Given the description of an element on the screen output the (x, y) to click on. 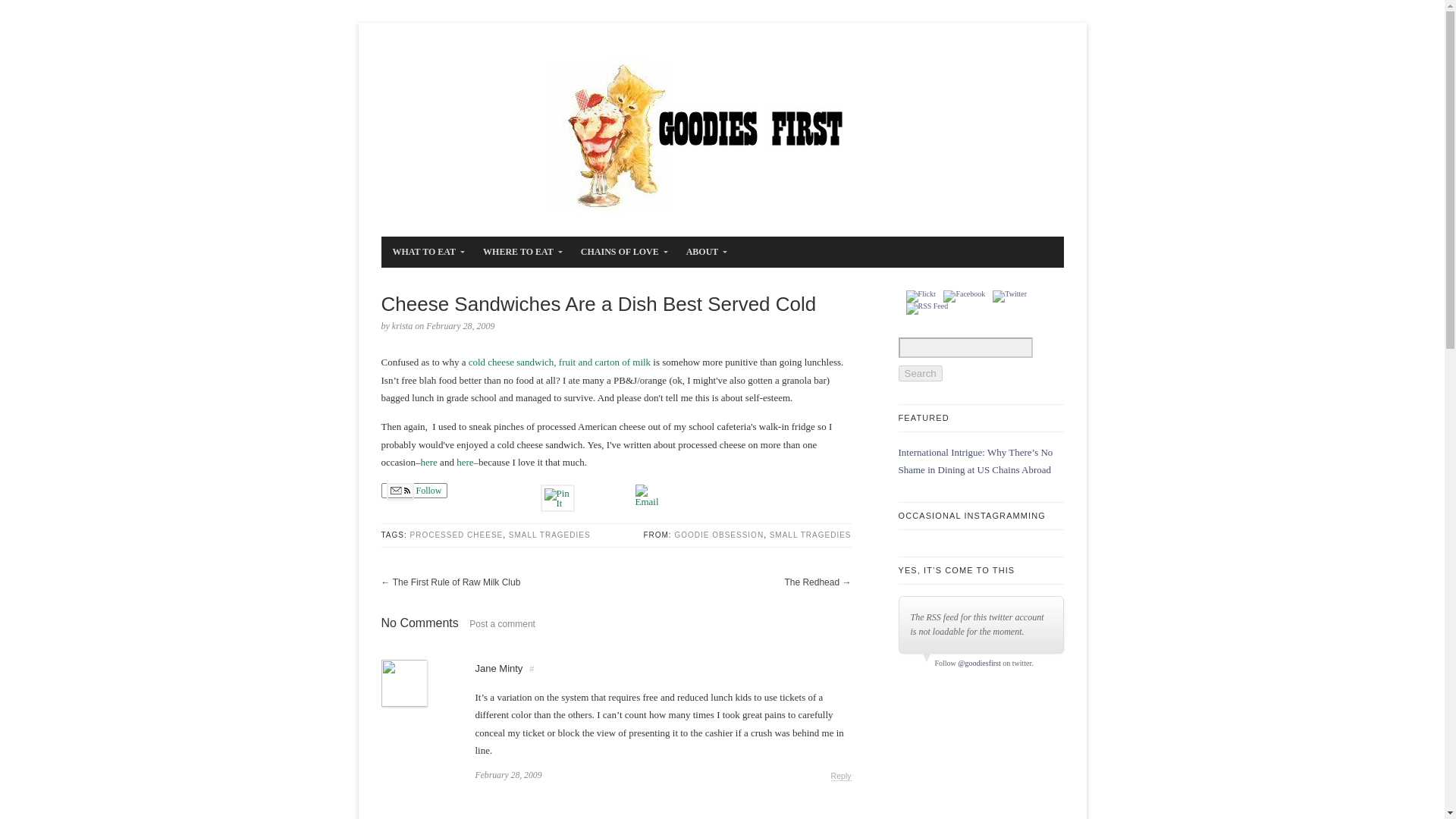
Facebook (964, 296)
WHAT TO EAT (425, 251)
Search (920, 373)
Email (646, 495)
Post a comment (498, 624)
Email, RSS (400, 491)
RSS (926, 308)
Twitter (1009, 296)
Share on Tumblr (605, 491)
Flickr (920, 296)
WHERE TO EAT (519, 251)
